Given the description of an element on the screen output the (x, y) to click on. 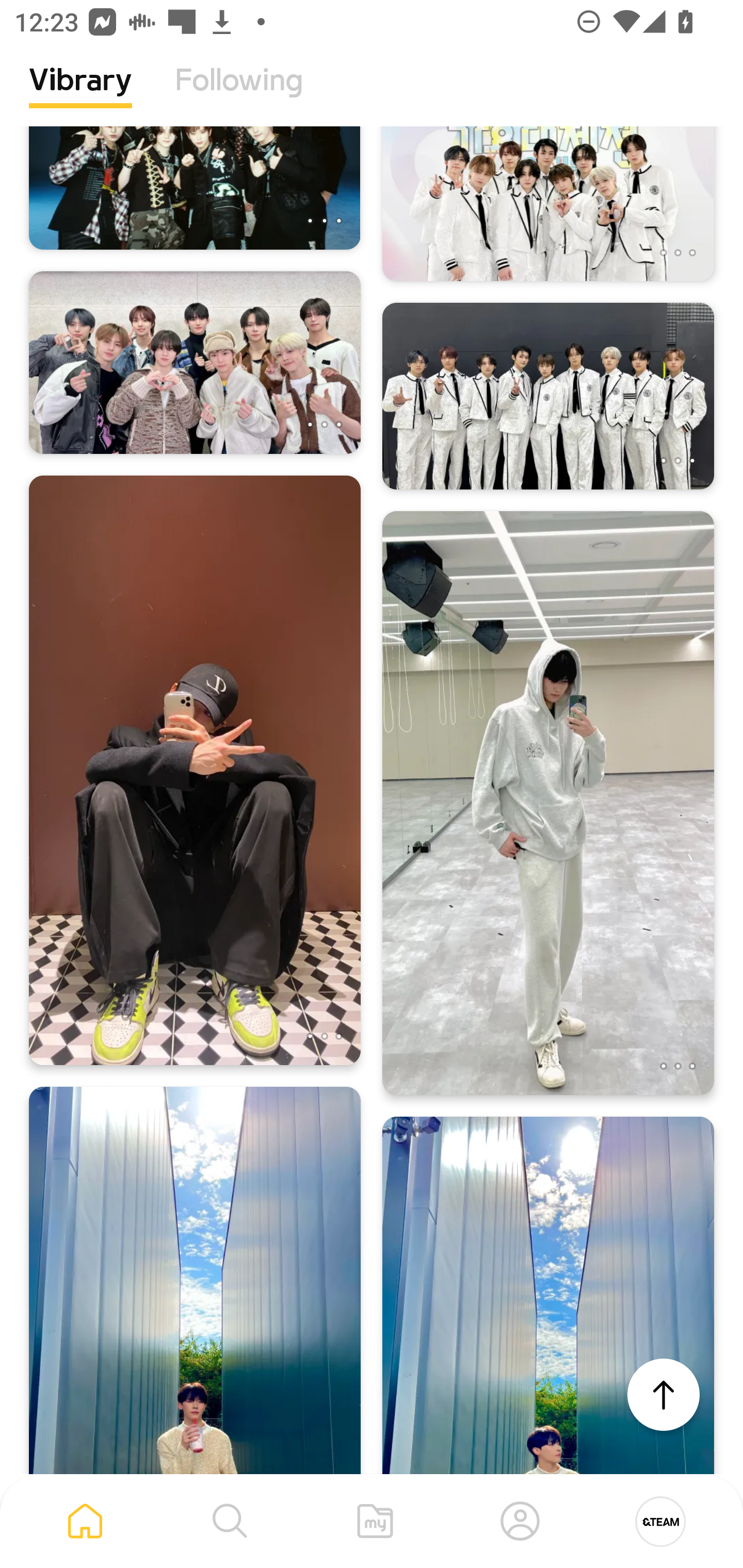
Vibrary (80, 95)
Following (239, 95)
